Given the description of an element on the screen output the (x, y) to click on. 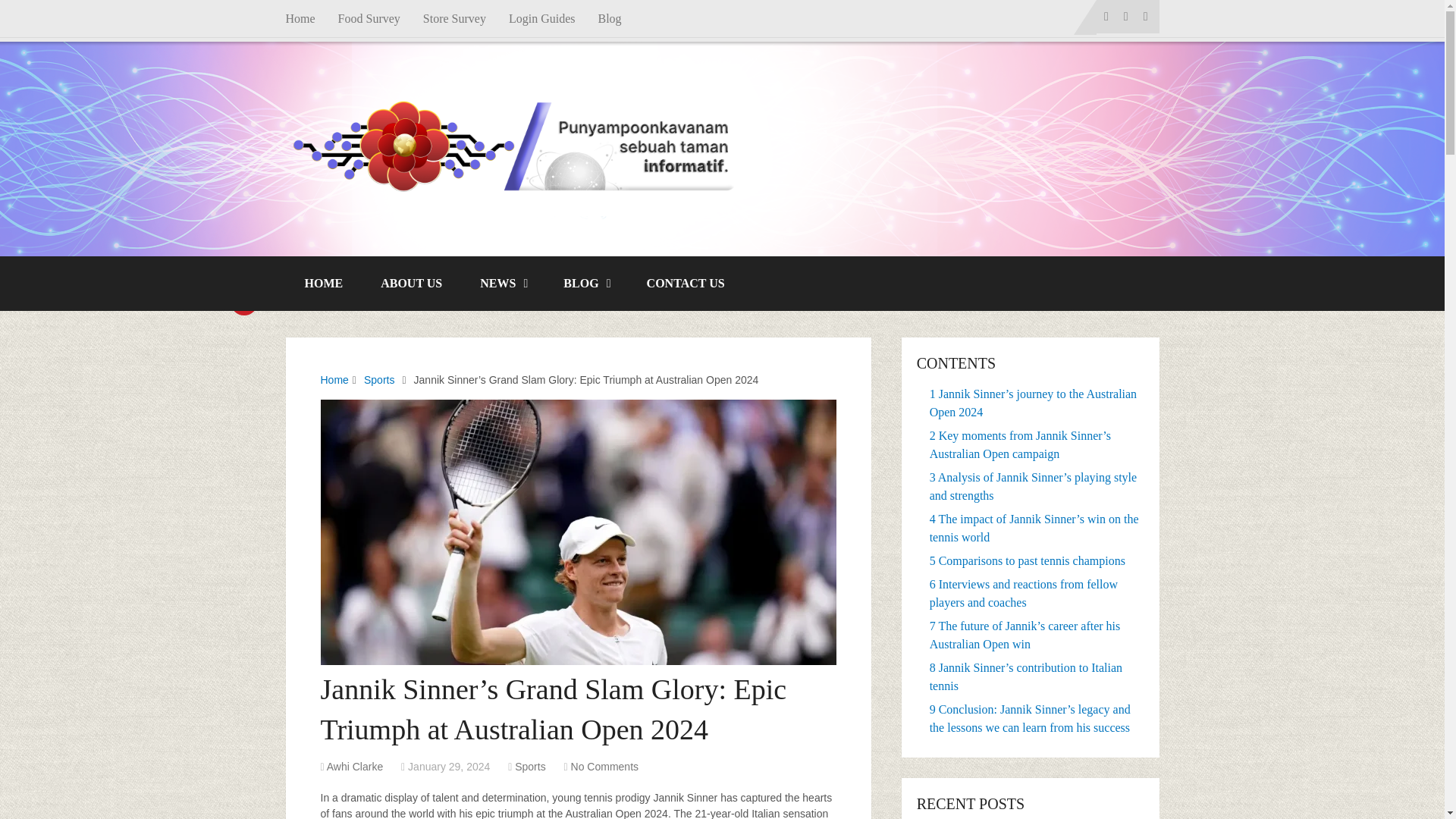
Food Survey (369, 18)
Login Guides (541, 18)
Home (305, 18)
NEWS (502, 283)
Home (333, 379)
HOME (323, 283)
Sports (529, 766)
ABOUT US (411, 283)
No Comments (604, 766)
Blog (609, 18)
